Given the description of an element on the screen output the (x, y) to click on. 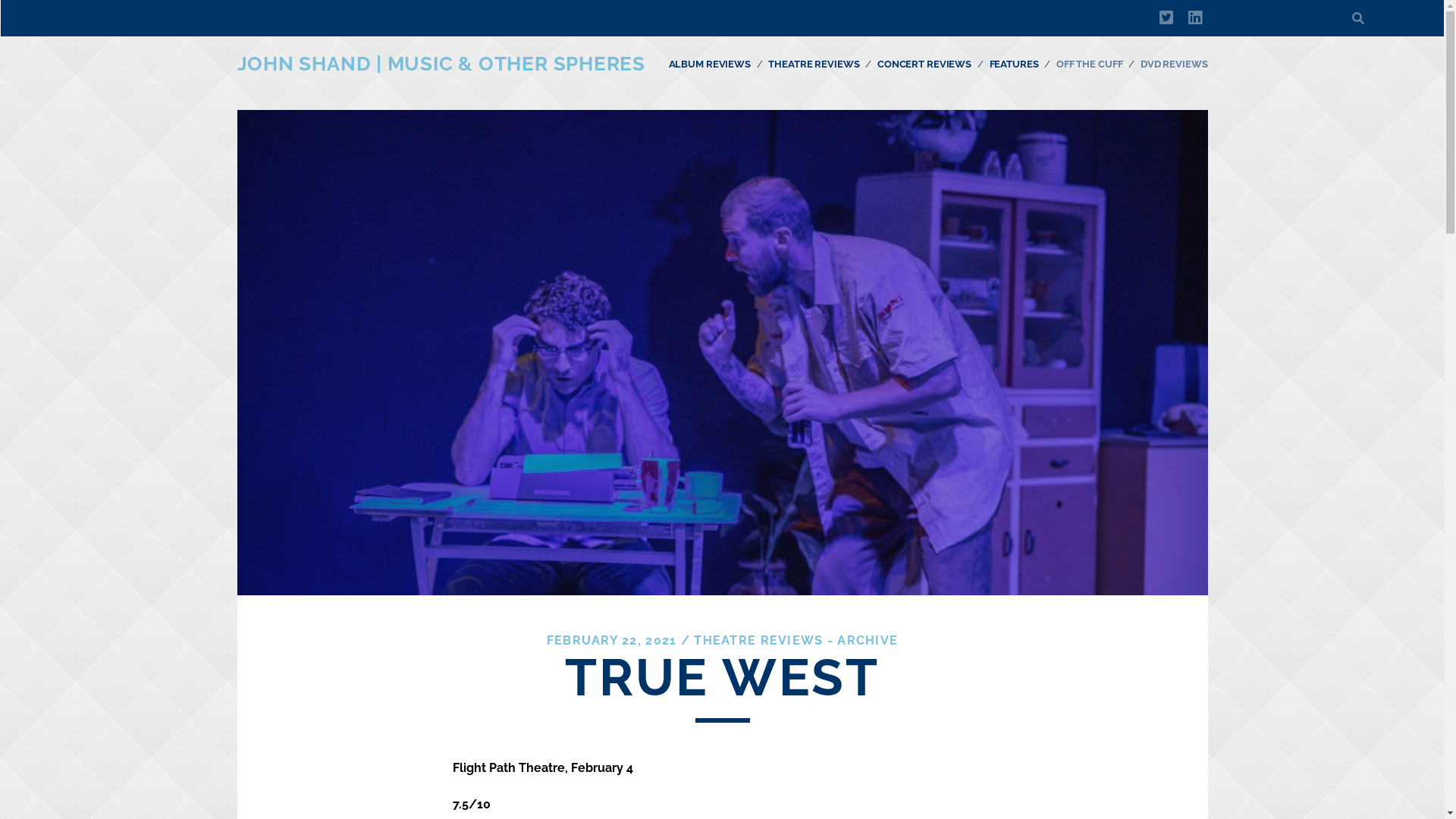
THEATRE REVIEWS Element type: text (813, 64)
twitter Element type: hover (1166, 17)
linkedin Element type: text (1194, 17)
DVD REVIEWS Element type: text (1174, 64)
THEATRE REVIEWS - ARCHIVE Element type: text (795, 640)
OFF THE CUFF Element type: text (1089, 64)
FEATURES Element type: text (1013, 64)
linkedin Element type: hover (1194, 17)
CONCERT REVIEWS Element type: text (924, 64)
JOHN SHAND | MUSIC & OTHER SPHERES Element type: text (440, 63)
ALBUM REVIEWS Element type: text (709, 64)
twitter Element type: text (1166, 17)
